Given the description of an element on the screen output the (x, y) to click on. 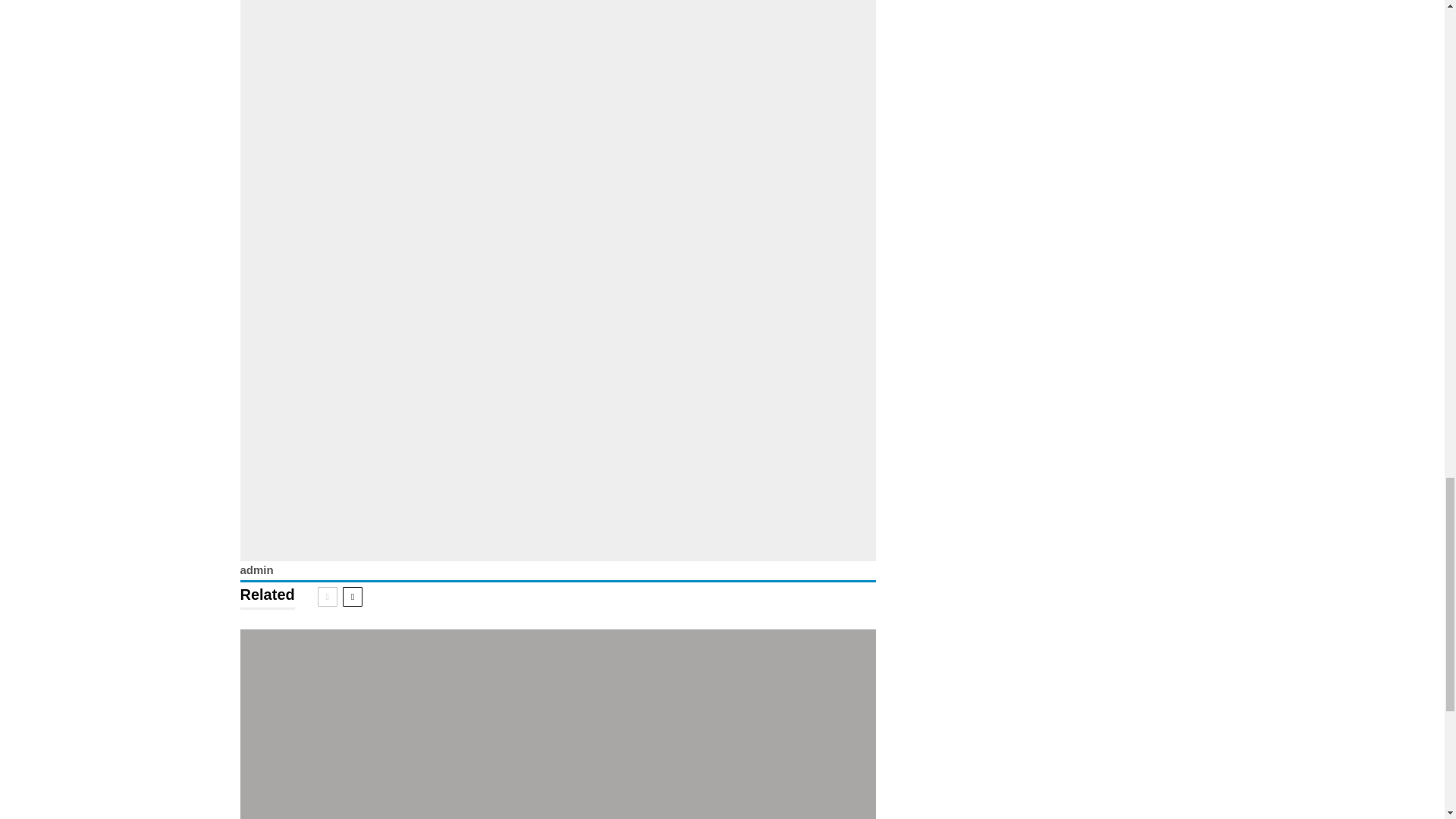
admin (256, 569)
